Given the description of an element on the screen output the (x, y) to click on. 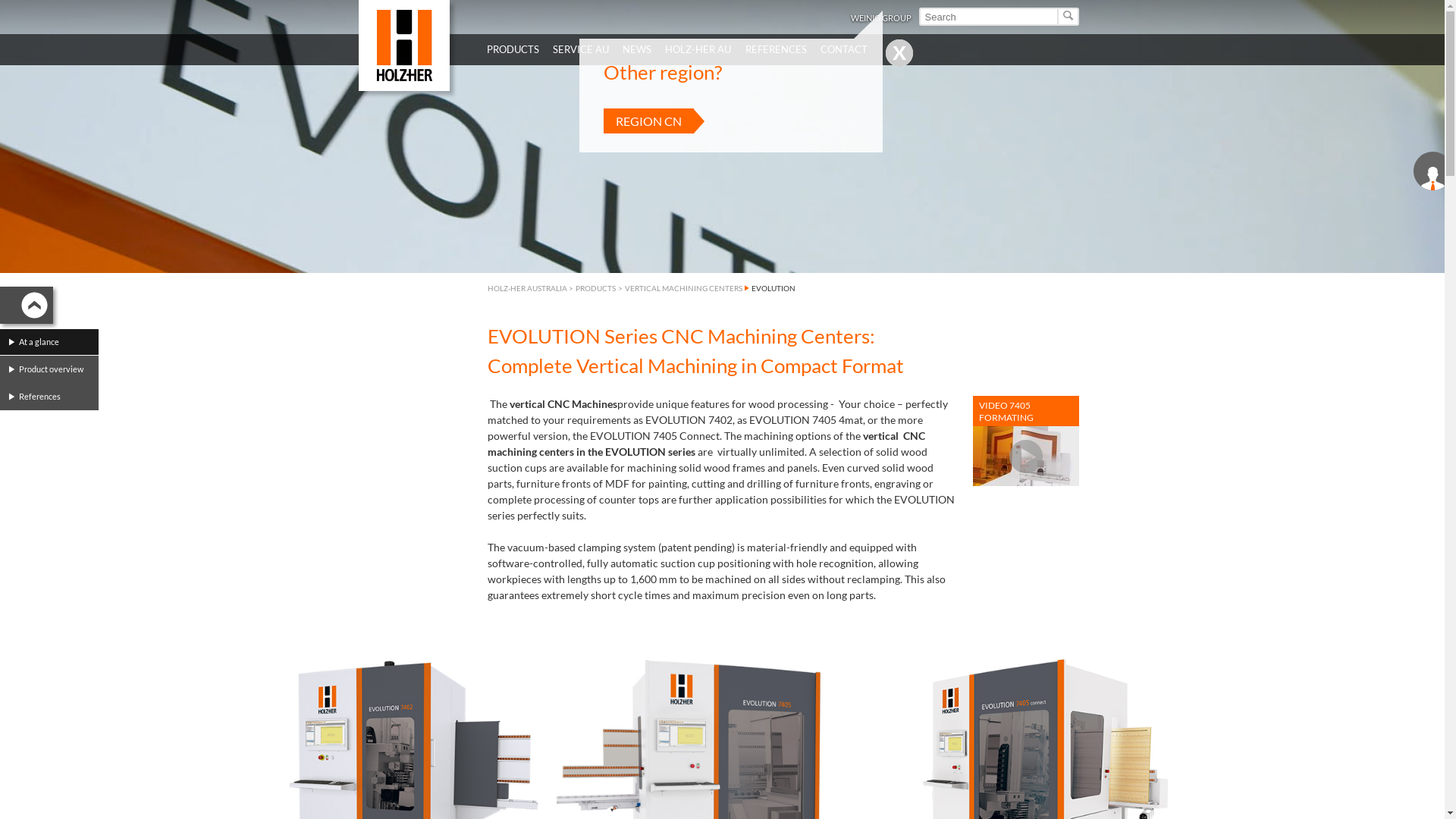
Product overview Element type: text (52, 369)
VIDEO 7405 FORMATING Element type: text (1025, 440)
REGION CN Element type: text (648, 120)
VERTICAL MACHINING CENTERS Element type: text (683, 287)
WEINIG GROUP Element type: text (880, 17)
zur Startseite der Michael Weinig AG Element type: hover (402, 45)
HOLZ-HER AUSTRALIA Element type: text (526, 287)
At a glance Element type: text (52, 341)
References Element type: text (52, 396)
